Given the description of an element on the screen output the (x, y) to click on. 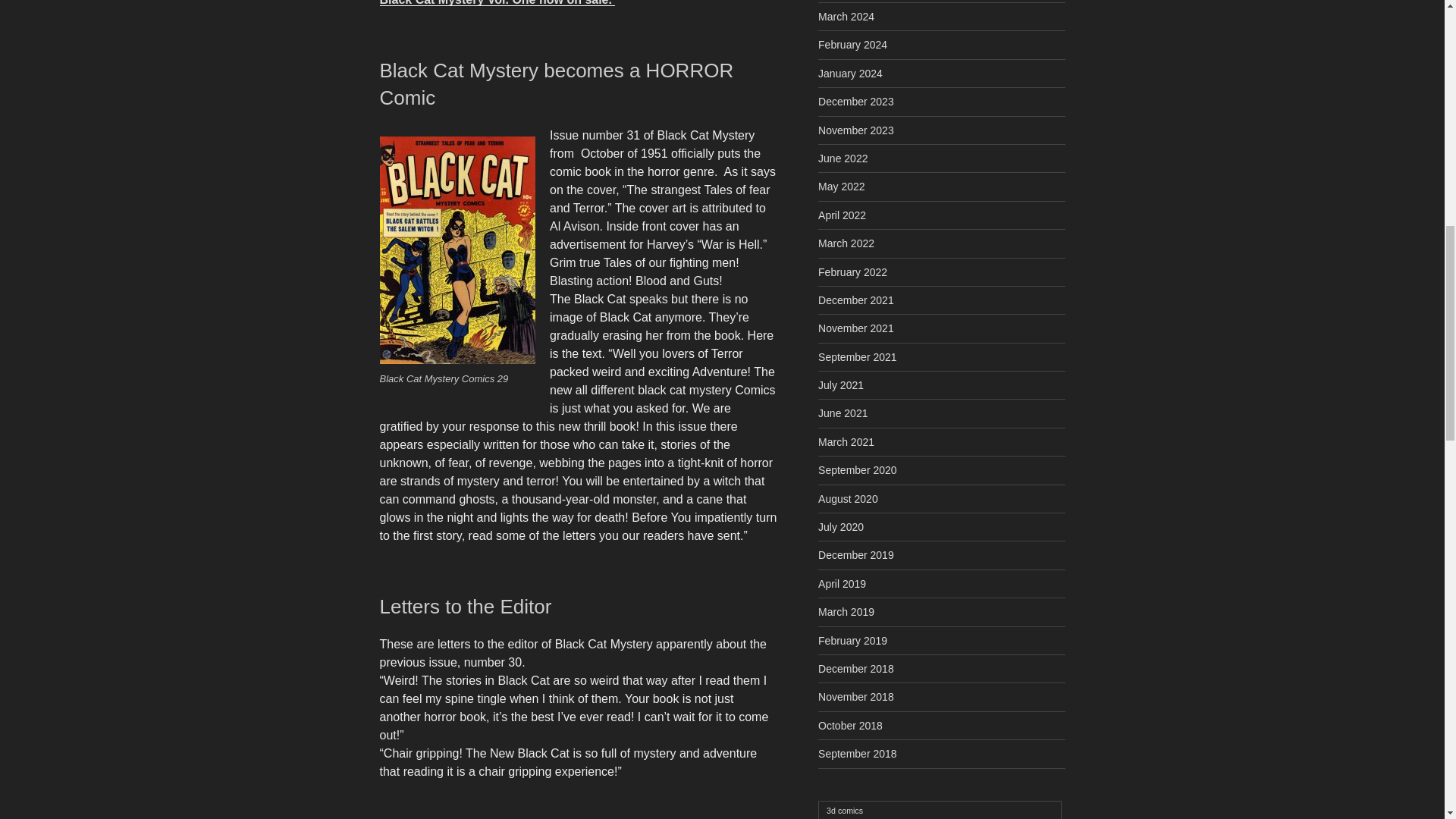
February 2022 (852, 272)
January 2024 (850, 73)
March 2022 (846, 243)
November 2021 (855, 328)
December 2019 (855, 554)
August 2020 (847, 499)
December 2023 (855, 101)
February 2024 (852, 44)
July 2021 (840, 385)
June 2022 (842, 158)
December 2021 (855, 300)
March 2024 (846, 16)
April 2022 (842, 215)
November 2023 (855, 130)
September 2020 (857, 469)
